Given the description of an element on the screen output the (x, y) to click on. 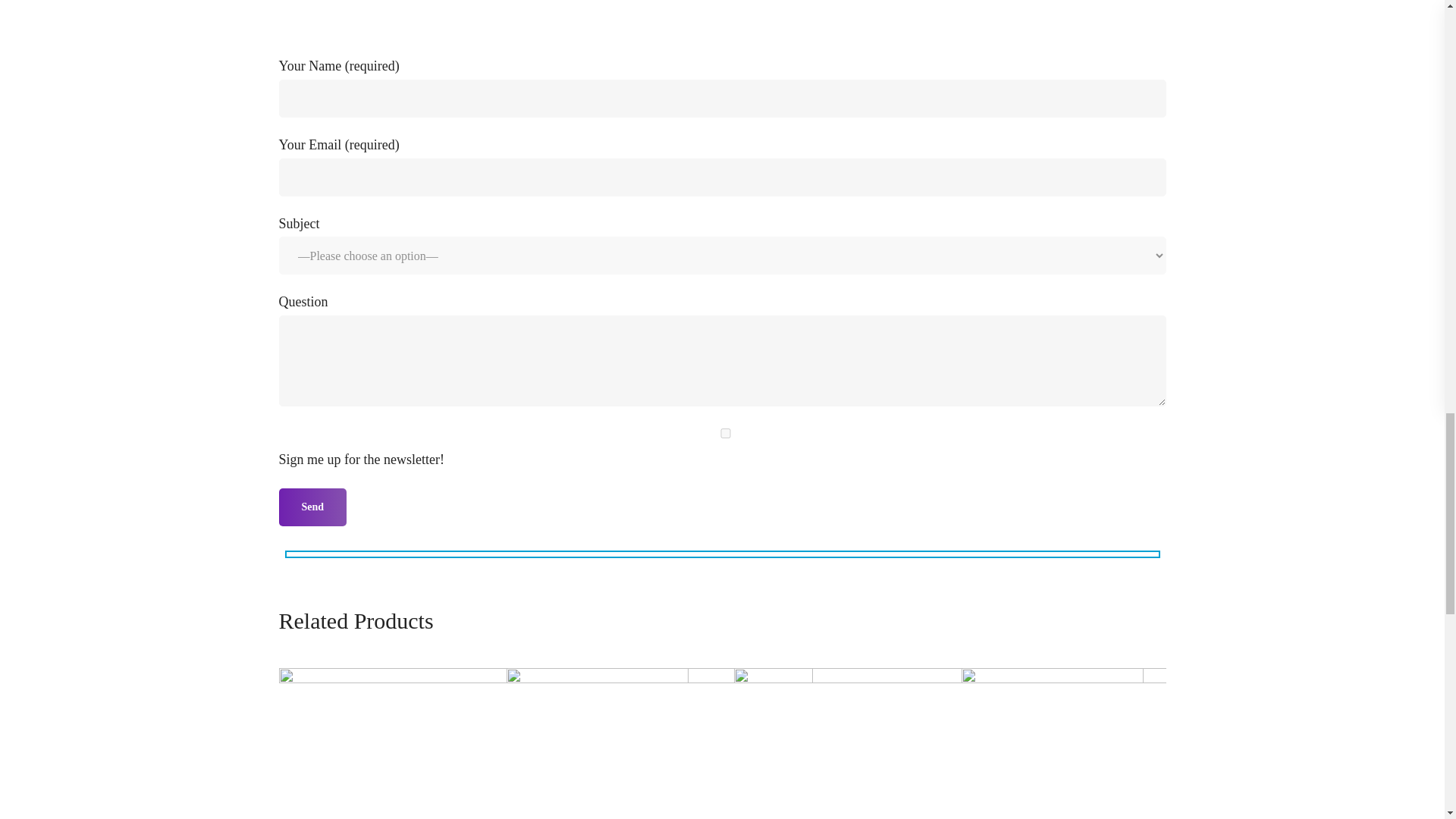
Send (313, 507)
